Given the description of an element on the screen output the (x, y) to click on. 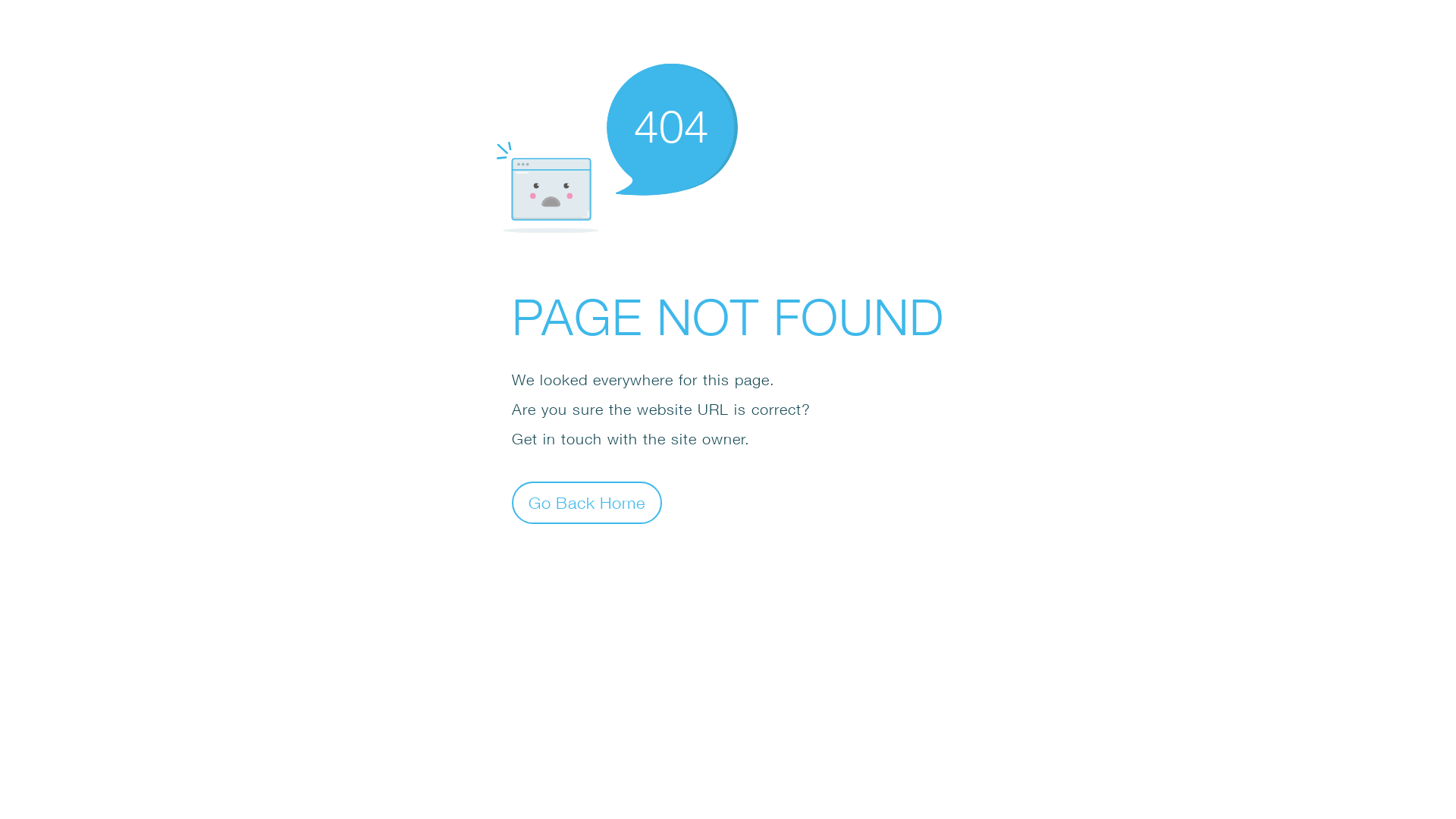
Go Back Home Element type: text (586, 502)
